Given the description of an element on the screen output the (x, y) to click on. 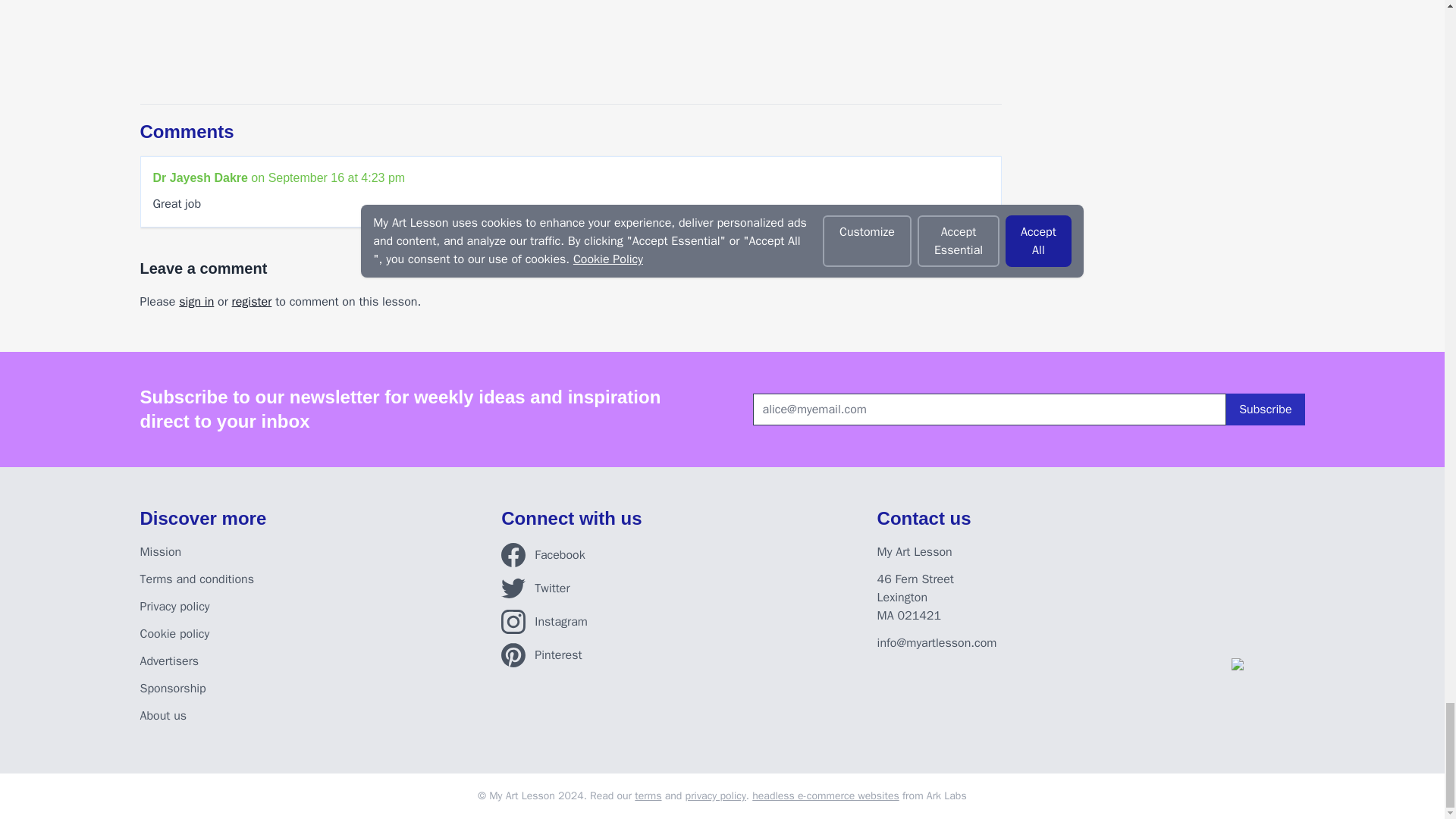
2023-09-16 (336, 177)
register (251, 301)
sign in (196, 301)
